Given the description of an element on the screen output the (x, y) to click on. 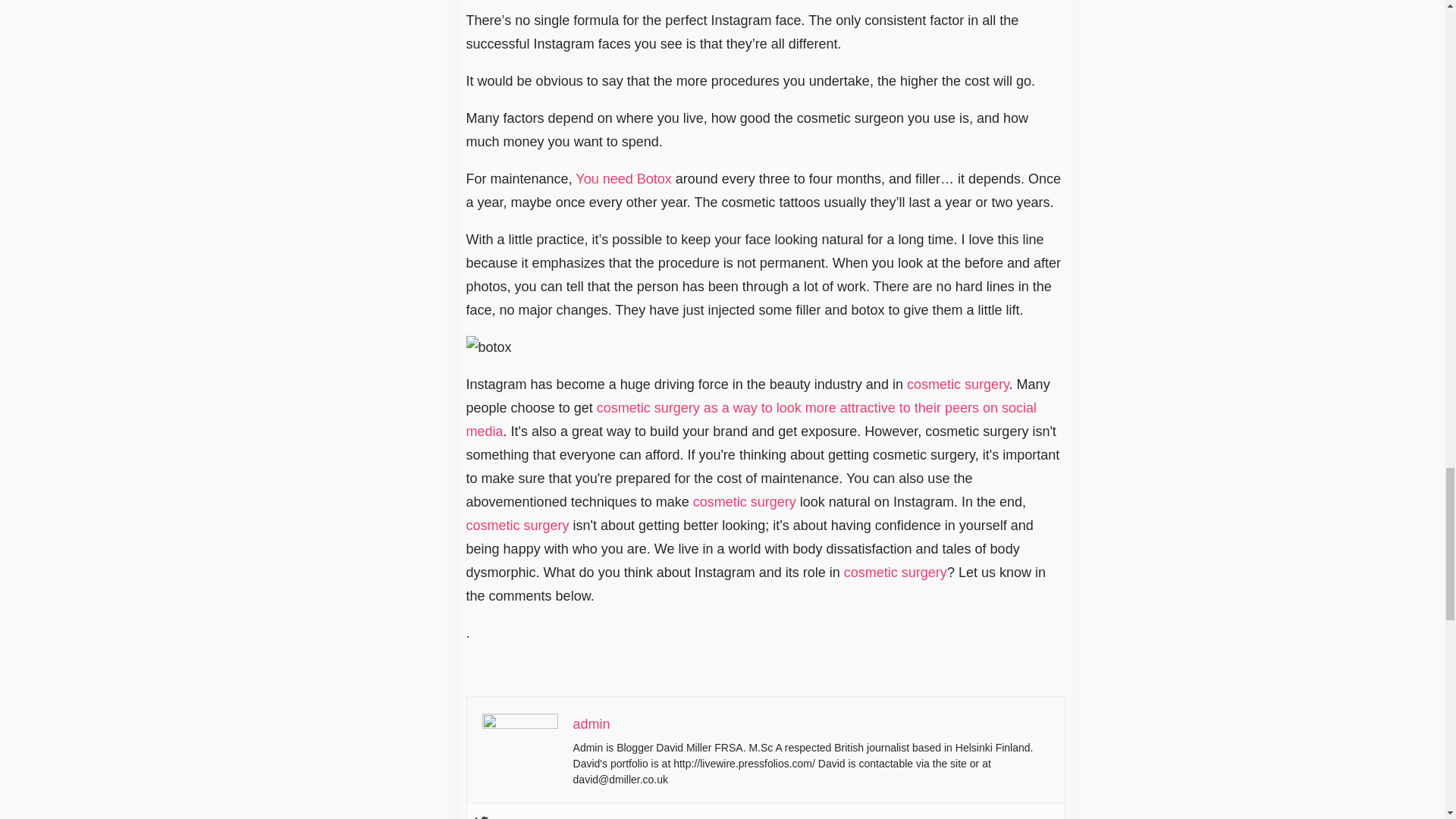
cosmetic surgery (517, 525)
cosmetic surgery (895, 572)
Twitter (480, 816)
cosmetic surgery (744, 501)
cosmetic surgery (958, 384)
You need Botox (623, 178)
admin (591, 724)
